Given the description of an element on the screen output the (x, y) to click on. 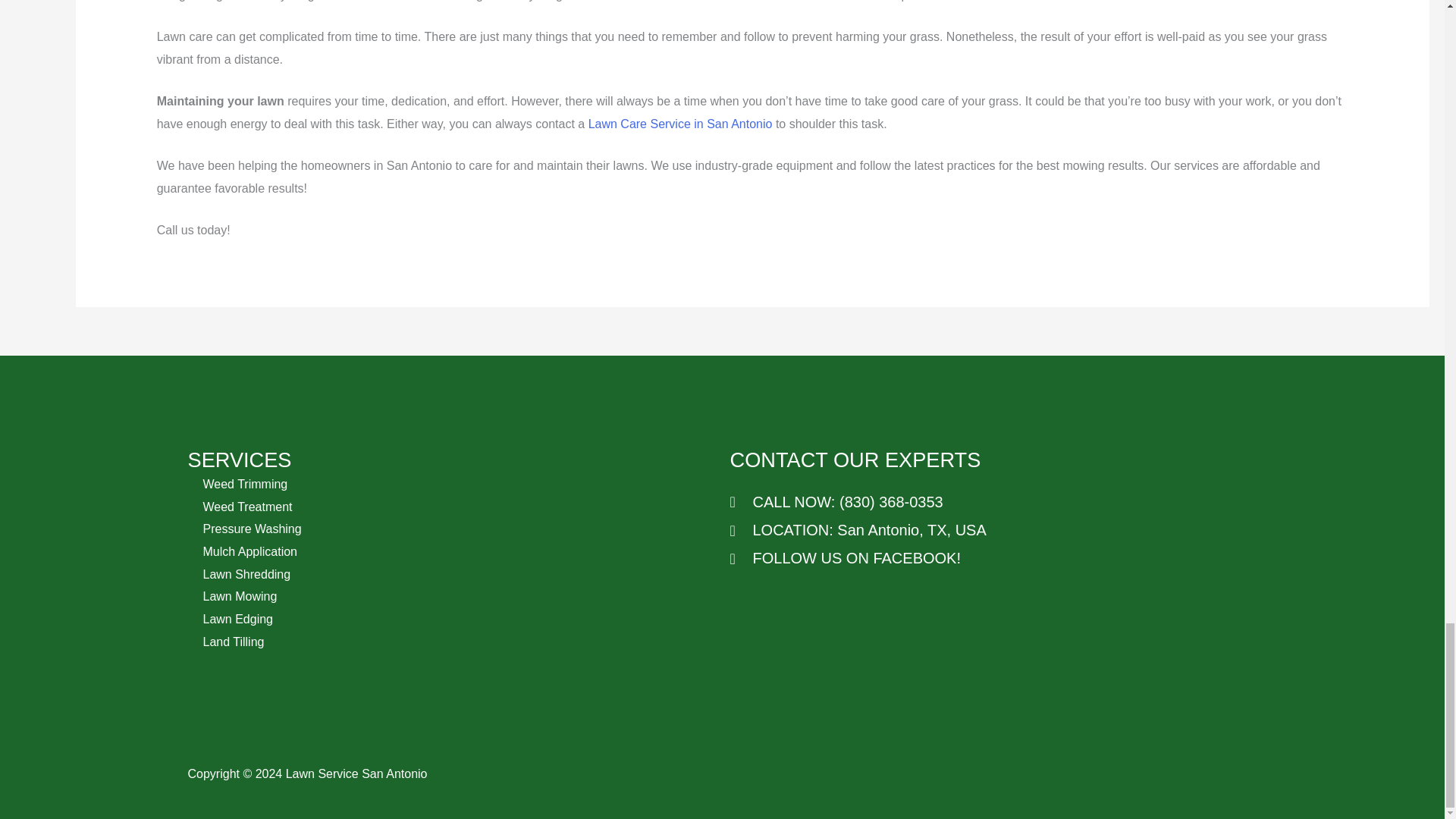
Mulch Application (250, 551)
Pressure Washing (252, 528)
Lawn Edging (238, 618)
Weed Treatment (247, 506)
Lawn Shredding (247, 574)
Lawn Mowing (240, 595)
Lawn Care Service in San Antonio (680, 123)
Weed Trimming (245, 483)
Land Tilling (233, 641)
